Given the description of an element on the screen output the (x, y) to click on. 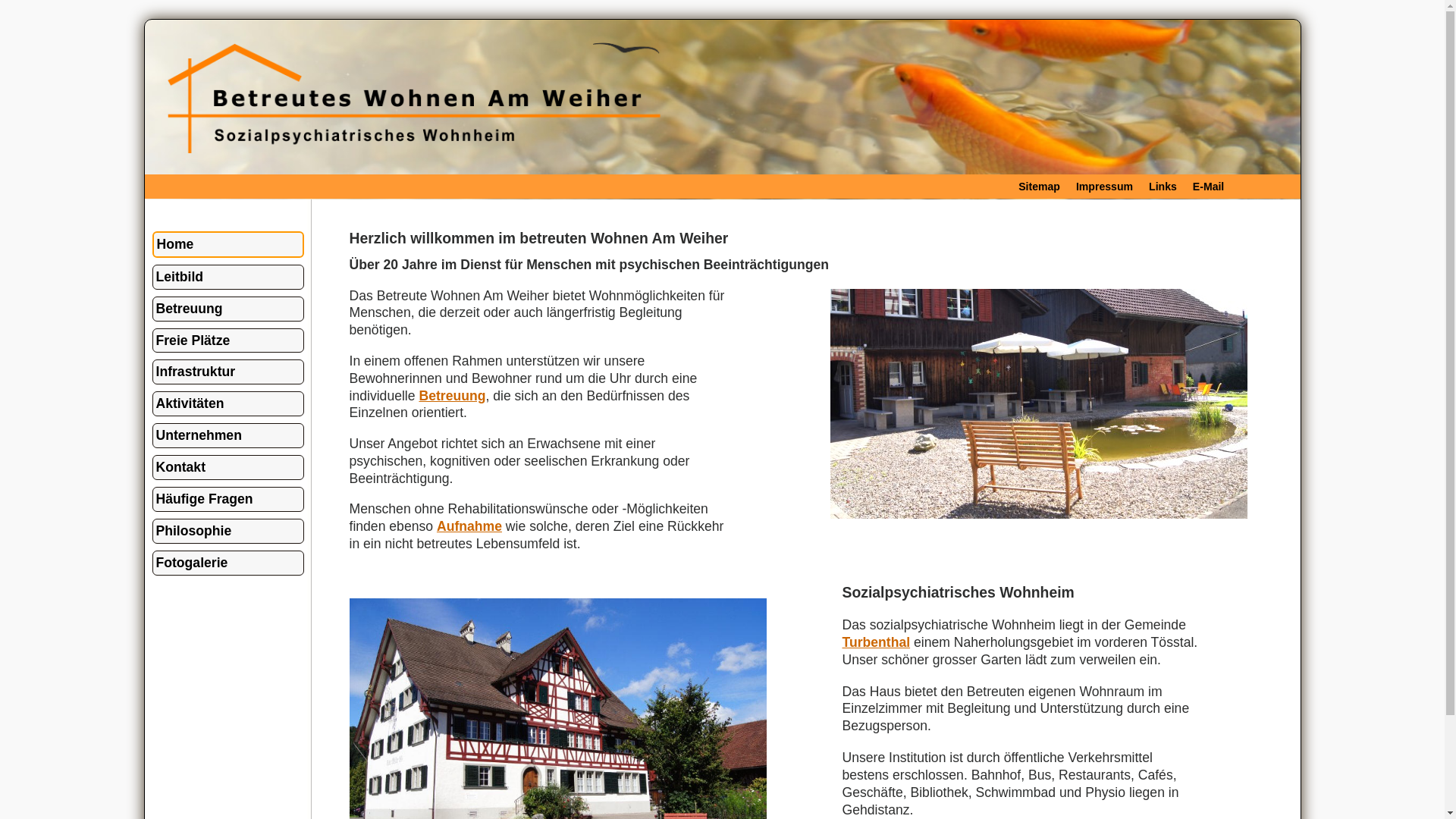
Unternehmen Element type: text (227, 435)
Betreuung Element type: text (227, 308)
Infrastruktur Element type: text (227, 371)
Links Element type: text (1162, 186)
Aufnahme Element type: text (469, 525)
Impressum Element type: text (1104, 186)
Sitemap Element type: text (1038, 186)
Betreuung Element type: text (451, 395)
Turbenthal Element type: text (875, 641)
Home Element type: text (227, 244)
Fotogalerie Element type: text (227, 562)
E-Mail Element type: text (1208, 186)
Philosophie Element type: text (227, 530)
Kontakt Element type: text (227, 467)
Leitbild Element type: text (227, 276)
